Given the description of an element on the screen output the (x, y) to click on. 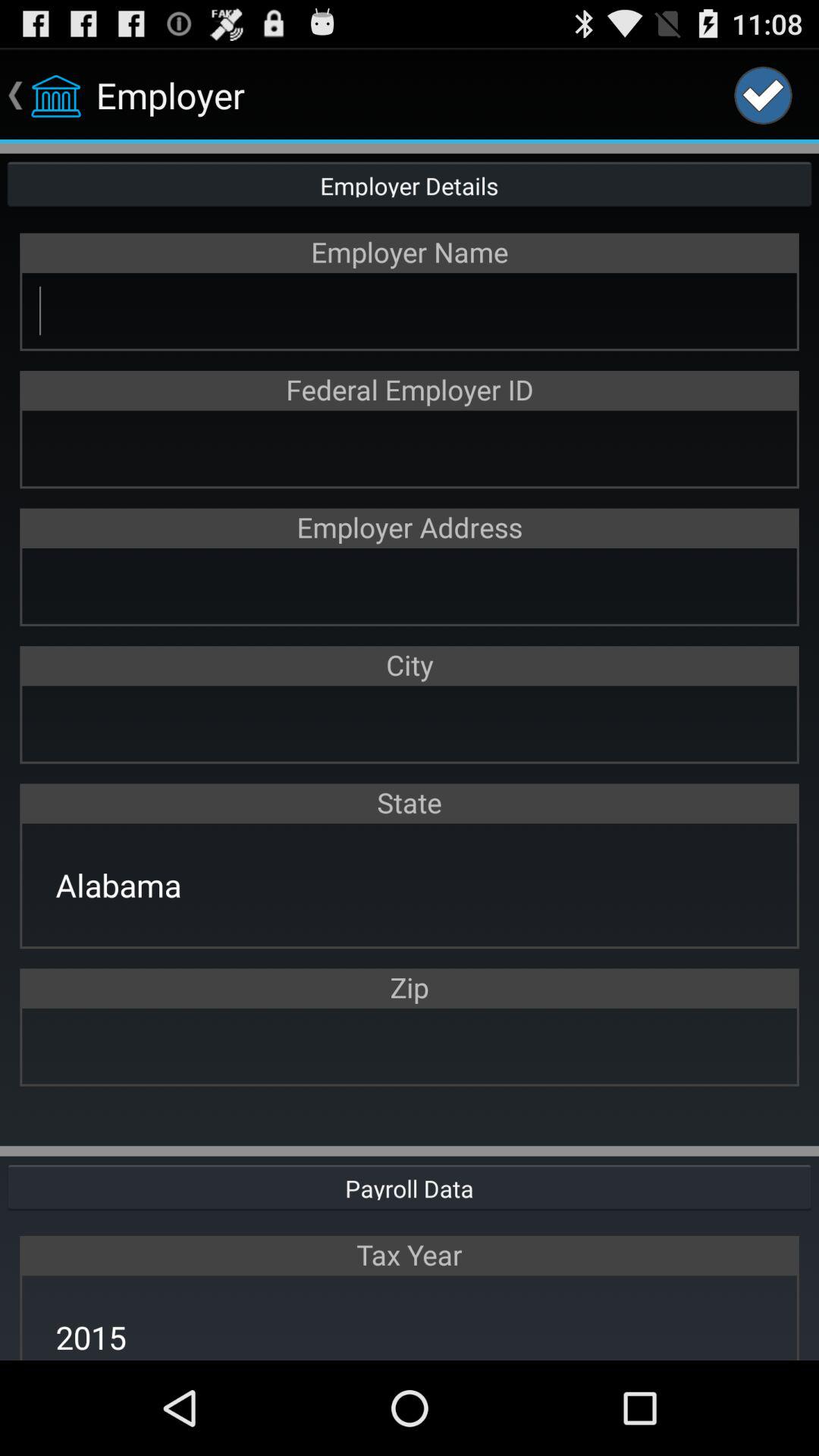
open city search bar (409, 723)
